Given the description of an element on the screen output the (x, y) to click on. 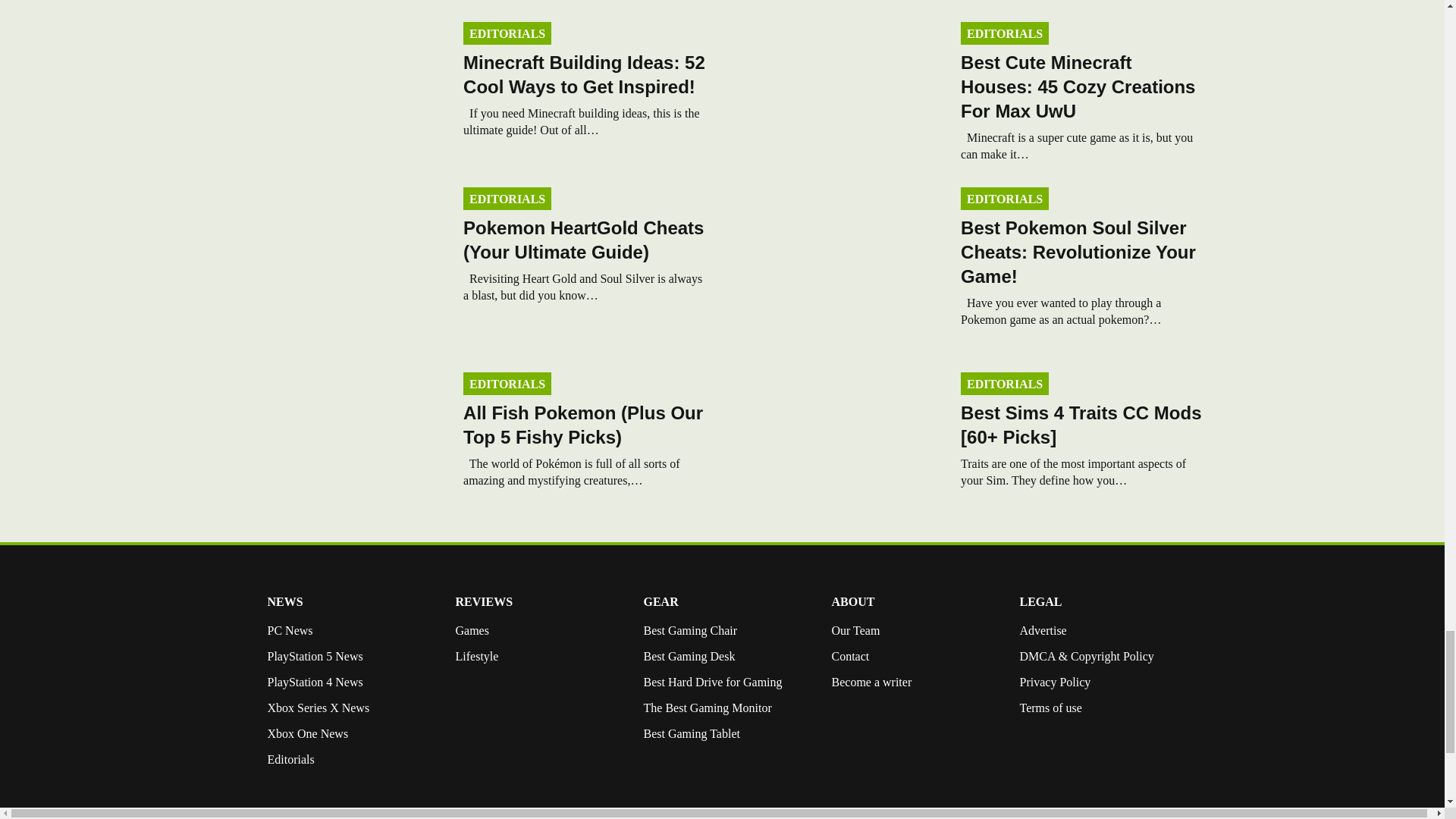
DMCA.com Protection Program (1049, 769)
